Given the description of an element on the screen output the (x, y) to click on. 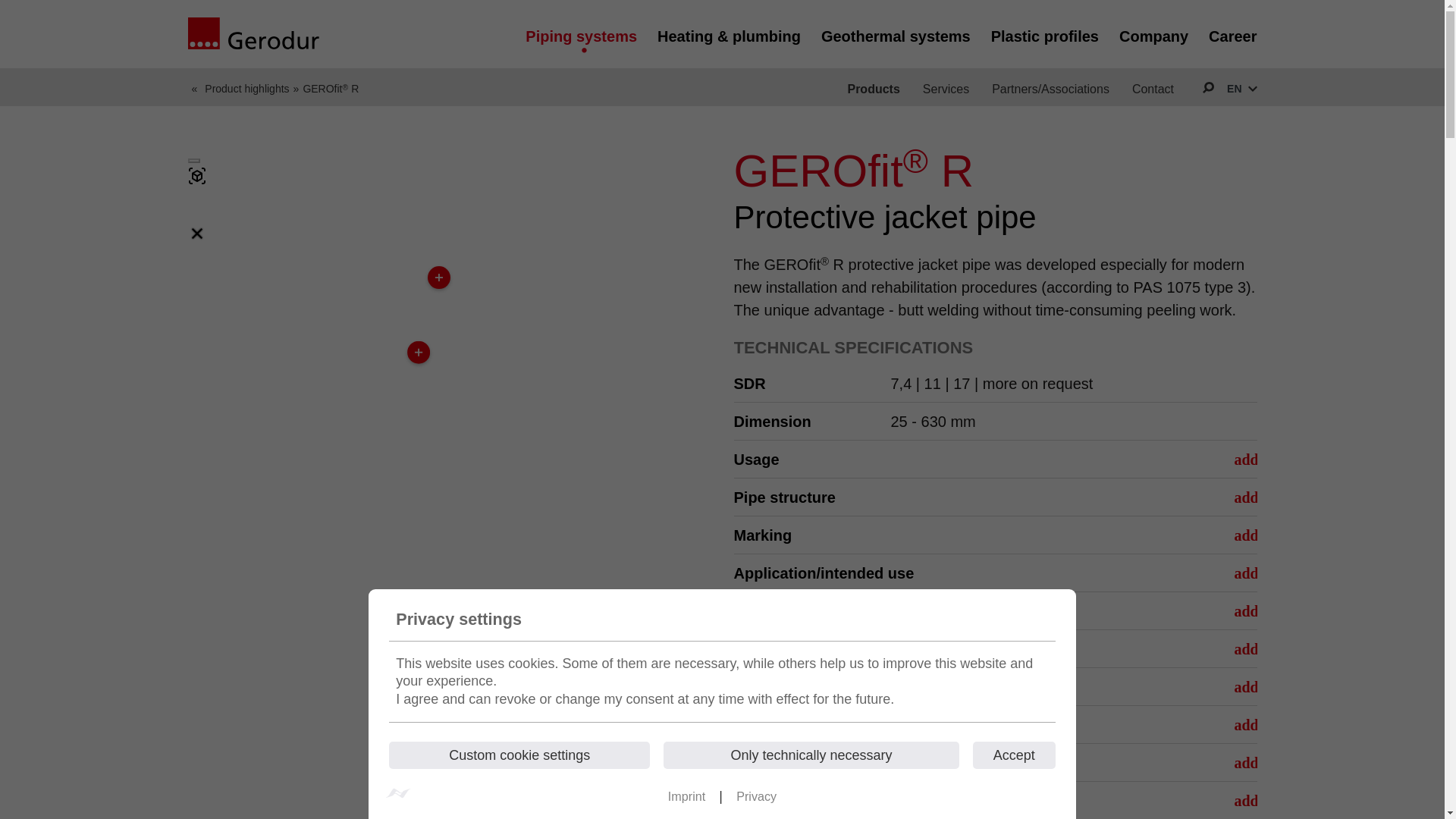
Career (1232, 33)
Geothermal systems (895, 33)
Products (873, 88)
Product highlights (246, 85)
Company (1153, 33)
Geothermal systems (895, 33)
Career (1232, 33)
Plastic profiles (1045, 33)
Piping systems (581, 33)
Company (1153, 33)
